Given the description of an element on the screen output the (x, y) to click on. 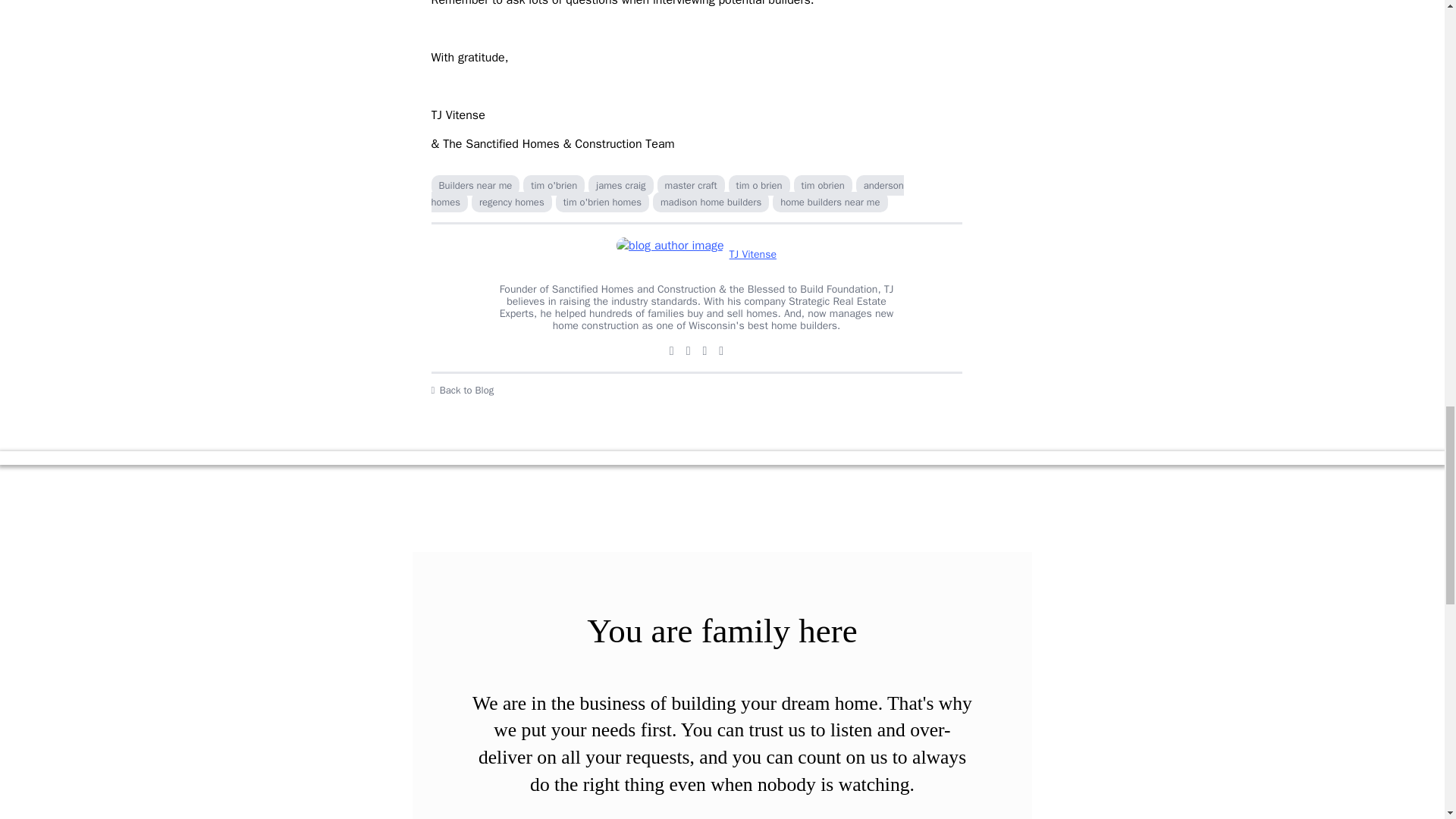
TJ Vitense (695, 254)
Back to Blog (695, 390)
